Given the description of an element on the screen output the (x, y) to click on. 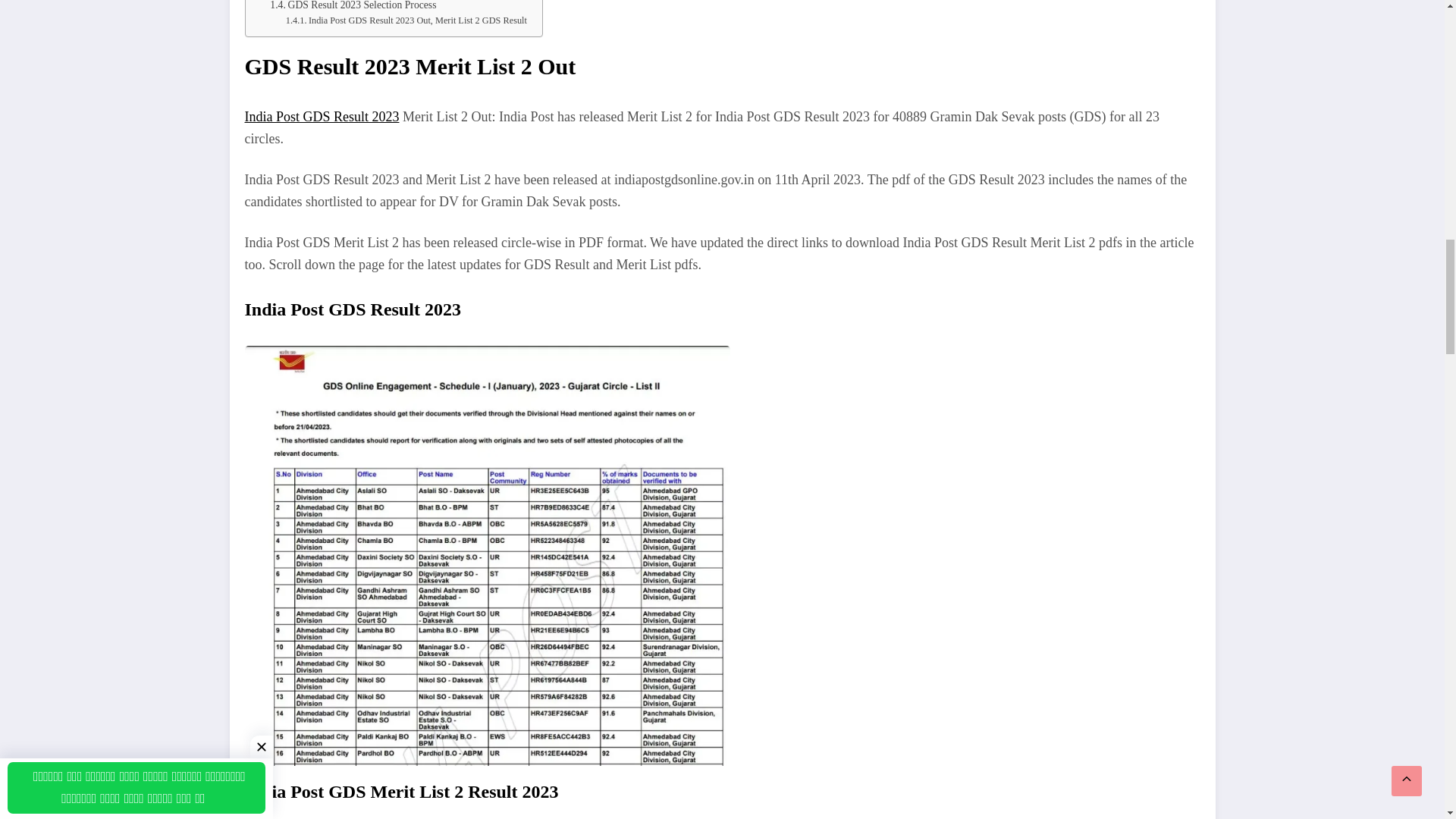
India Post GDS Result 2023 Out, Merit List 2 GDS Result (406, 20)
GDS Result 2023 Selection Process (352, 6)
India Post GDS Result 2023 (321, 116)
